Given the description of an element on the screen output the (x, y) to click on. 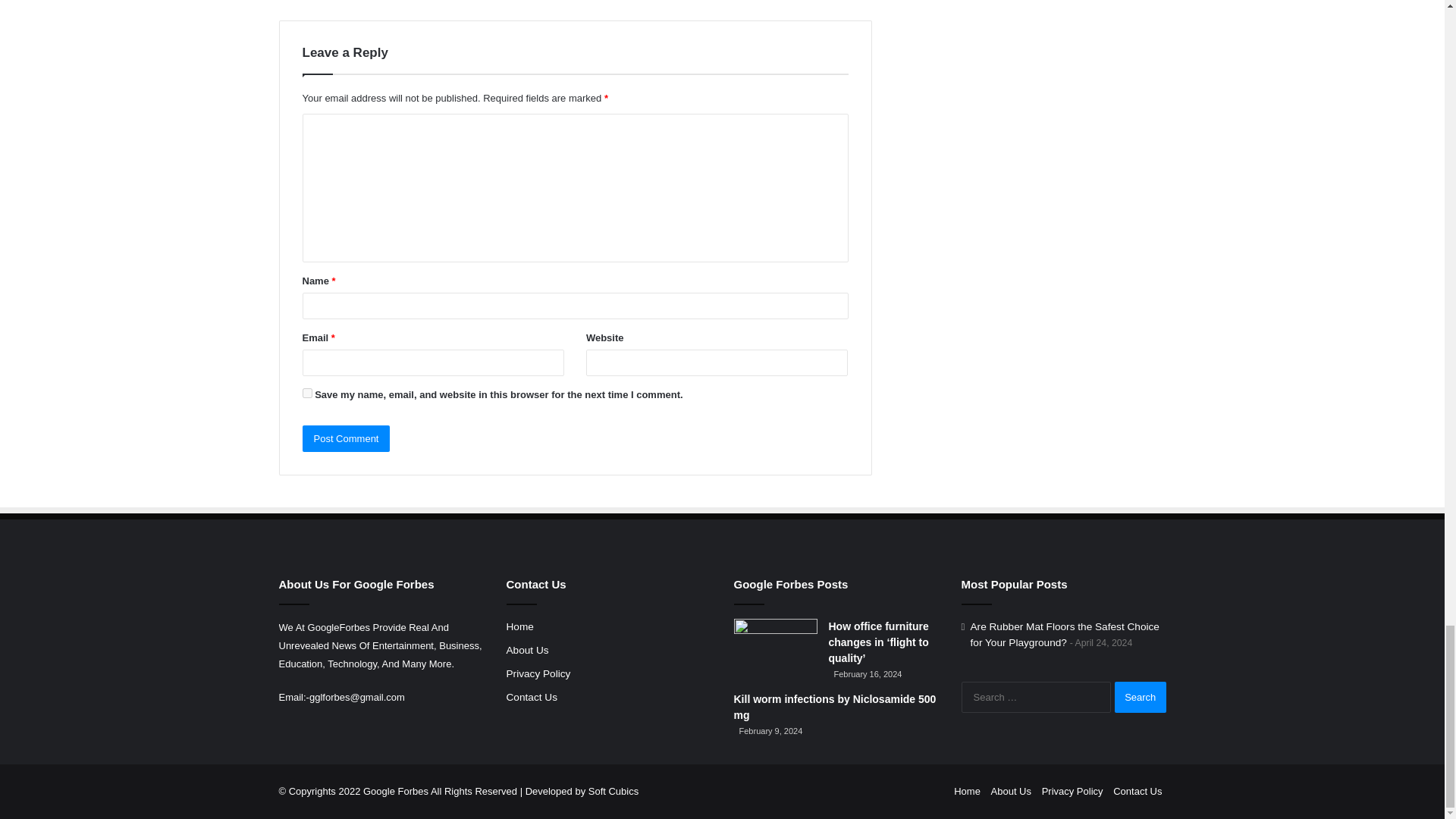
Post Comment (345, 438)
yes (306, 393)
Search (1140, 696)
Search (1140, 696)
